Given the description of an element on the screen output the (x, y) to click on. 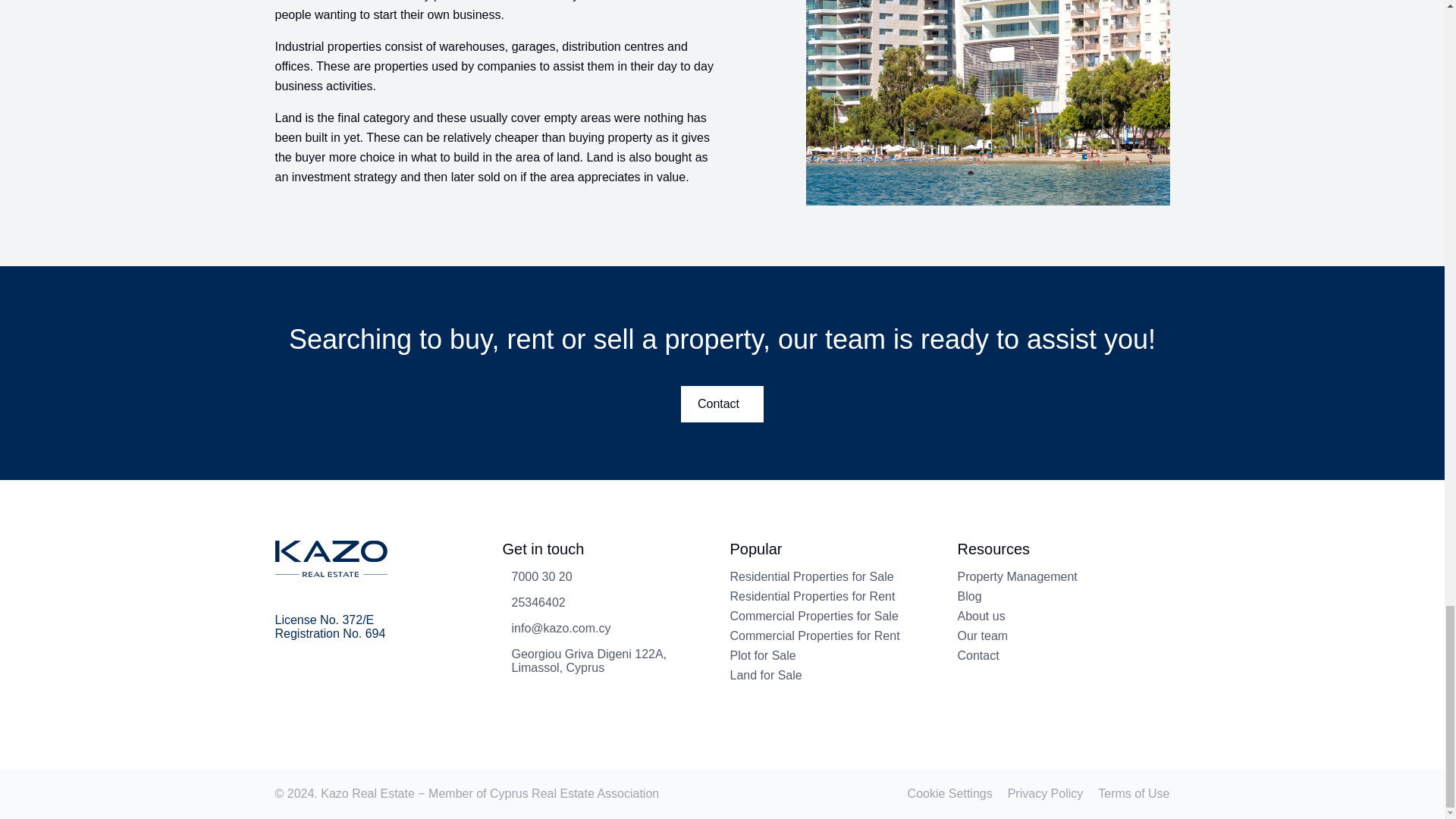
Residential Properties for Rent (812, 595)
About us (980, 615)
Land for Sale (765, 675)
Our team (981, 635)
Commercial Properties for Sale (813, 615)
7000 30 20 (537, 578)
Property Management (1016, 576)
Plot for Sale (761, 655)
Residential Properties for Sale (811, 576)
Contact (721, 403)
